Given the description of an element on the screen output the (x, y) to click on. 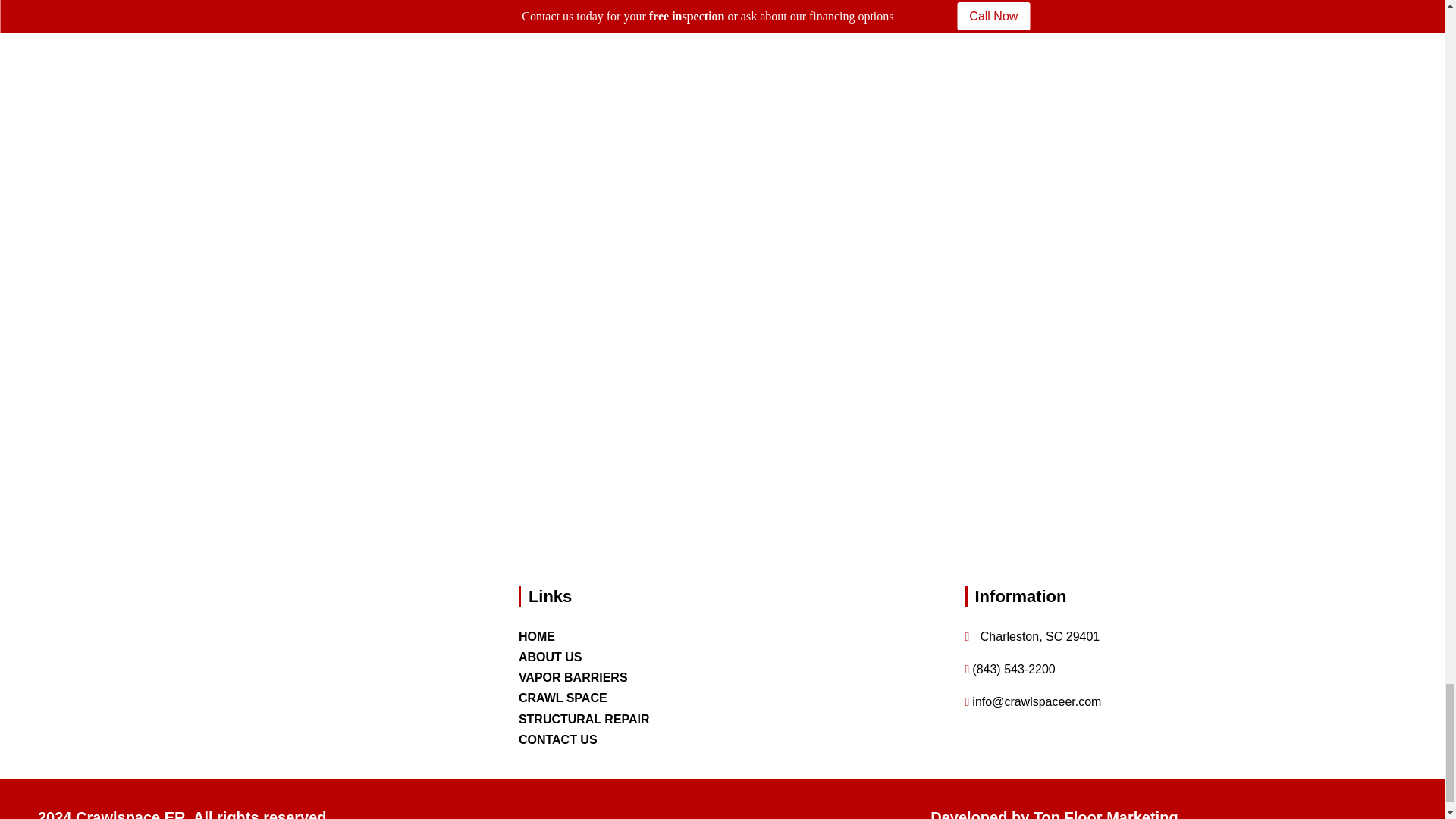
logo (222, 688)
